Given the description of an element on the screen output the (x, y) to click on. 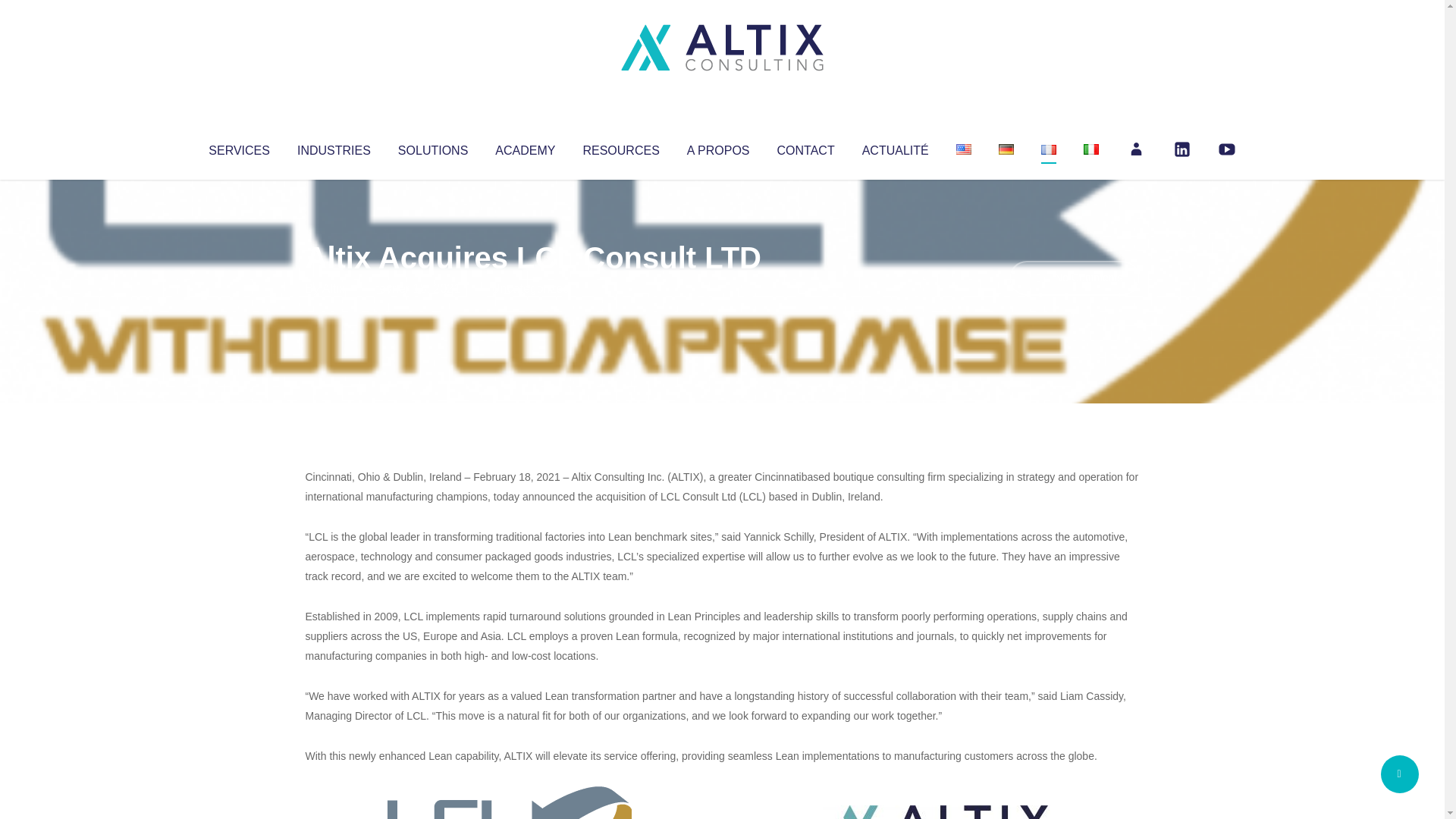
ACADEMY (524, 146)
Uncategorized (530, 287)
INDUSTRIES (334, 146)
Articles par Altix (333, 287)
RESOURCES (620, 146)
Altix (333, 287)
SERVICES (238, 146)
SOLUTIONS (432, 146)
A PROPOS (718, 146)
No Comments (1073, 278)
